Given the description of an element on the screen output the (x, y) to click on. 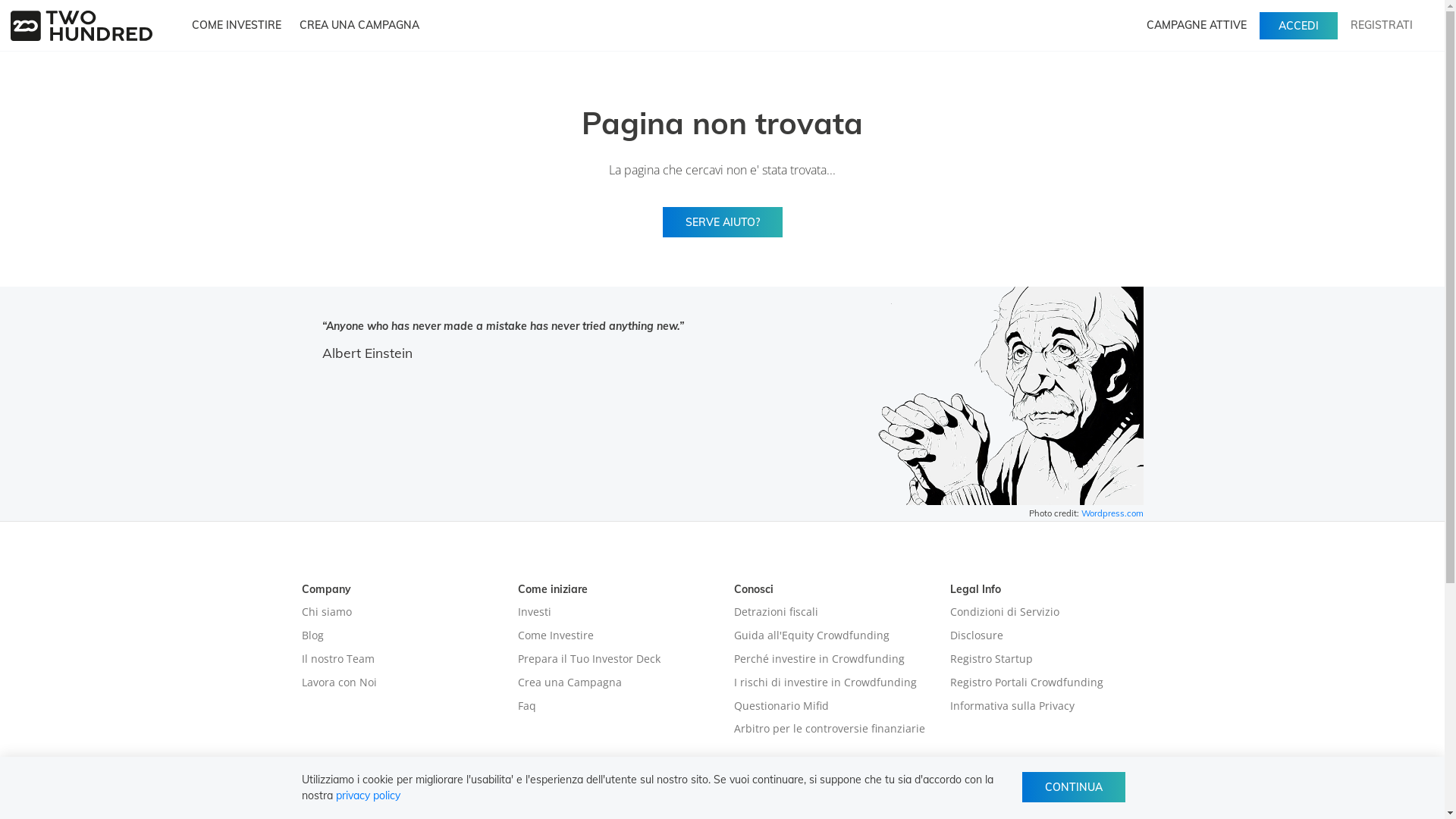
Condizioni di Servizio Element type: text (1003, 611)
I rischi di investire in Crowdfunding Element type: text (825, 681)
Arbitro per le controversie finanziarie Element type: text (829, 728)
Guida all'Equity Crowdfunding Element type: text (811, 634)
Lavora con Noi Element type: text (338, 681)
CAMPAGNE ATTIVE Element type: text (1196, 25)
Prepara il Tuo Investor Deck Element type: text (588, 658)
REGISTRATI Element type: text (1381, 24)
CONTINUA Element type: text (1073, 786)
Chi siamo Element type: text (326, 611)
Il nostro Team Element type: text (337, 658)
ACCEDI Element type: text (1298, 25)
Faq Element type: text (526, 705)
privacy policy Element type: text (367, 795)
Crea una Campagna Element type: text (569, 681)
Disclosure Element type: text (975, 634)
Informativa sulla Privacy Element type: text (1011, 705)
Wordpress.com Element type: text (1112, 513)
Detrazioni fiscali Element type: text (776, 611)
Investi Element type: text (533, 611)
Registro Portali Crowdfunding Element type: text (1025, 681)
Registro Startup Element type: text (990, 658)
COME INVESTIRE Element type: text (236, 25)
Come Investire Element type: text (555, 634)
CREA UNA CAMPAGNA Element type: text (359, 25)
SERVE AIUTO? Element type: text (722, 222)
200 crowd Element type: hover (81, 25)
Blog Element type: text (312, 634)
Questionario Mifid Element type: text (781, 705)
